Given the description of an element on the screen output the (x, y) to click on. 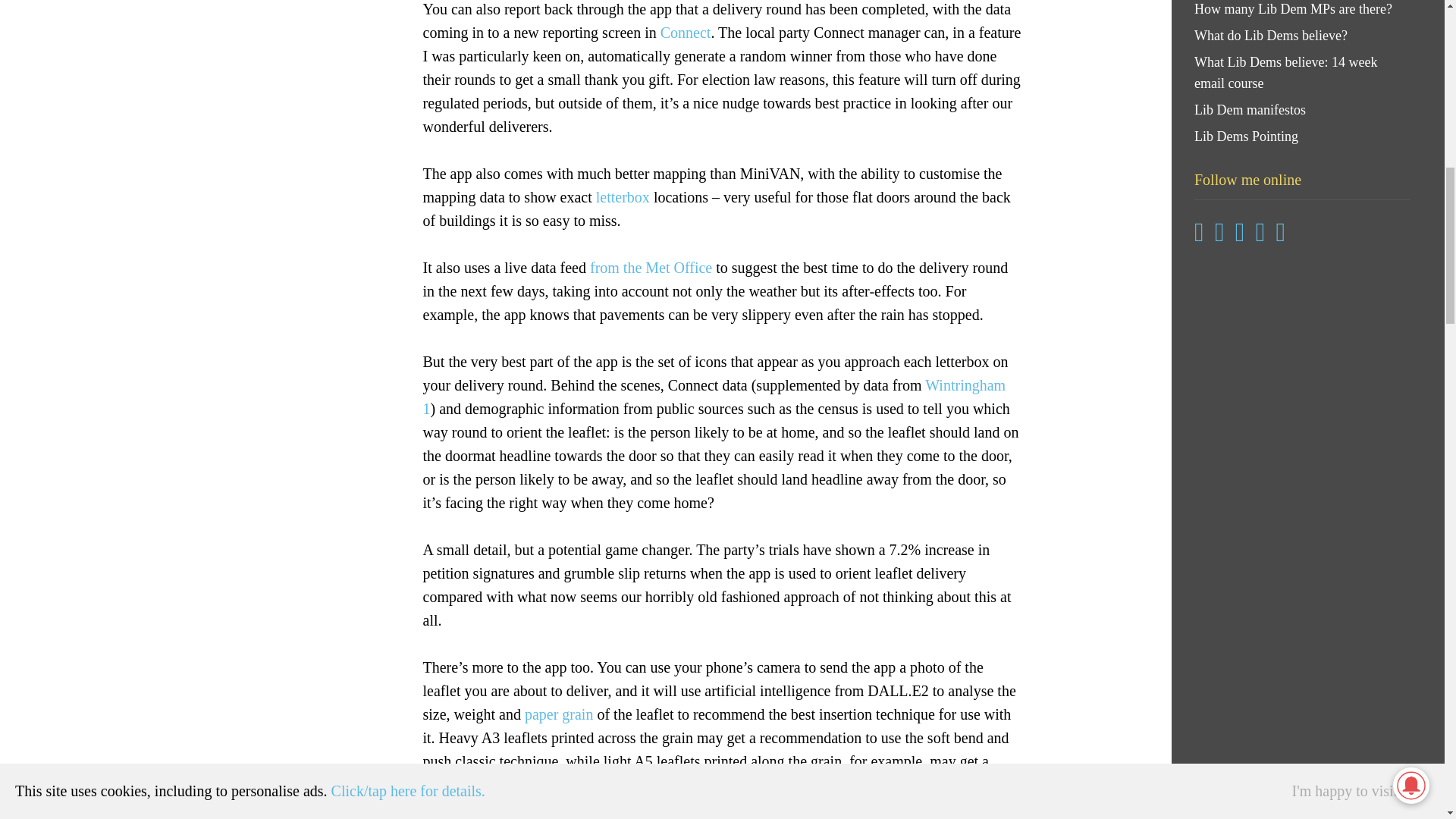
letterbox (622, 197)
Wintringham 1 (714, 396)
Connect (686, 32)
from the Met Office (650, 267)
paper grain (559, 713)
